Given the description of an element on the screen output the (x, y) to click on. 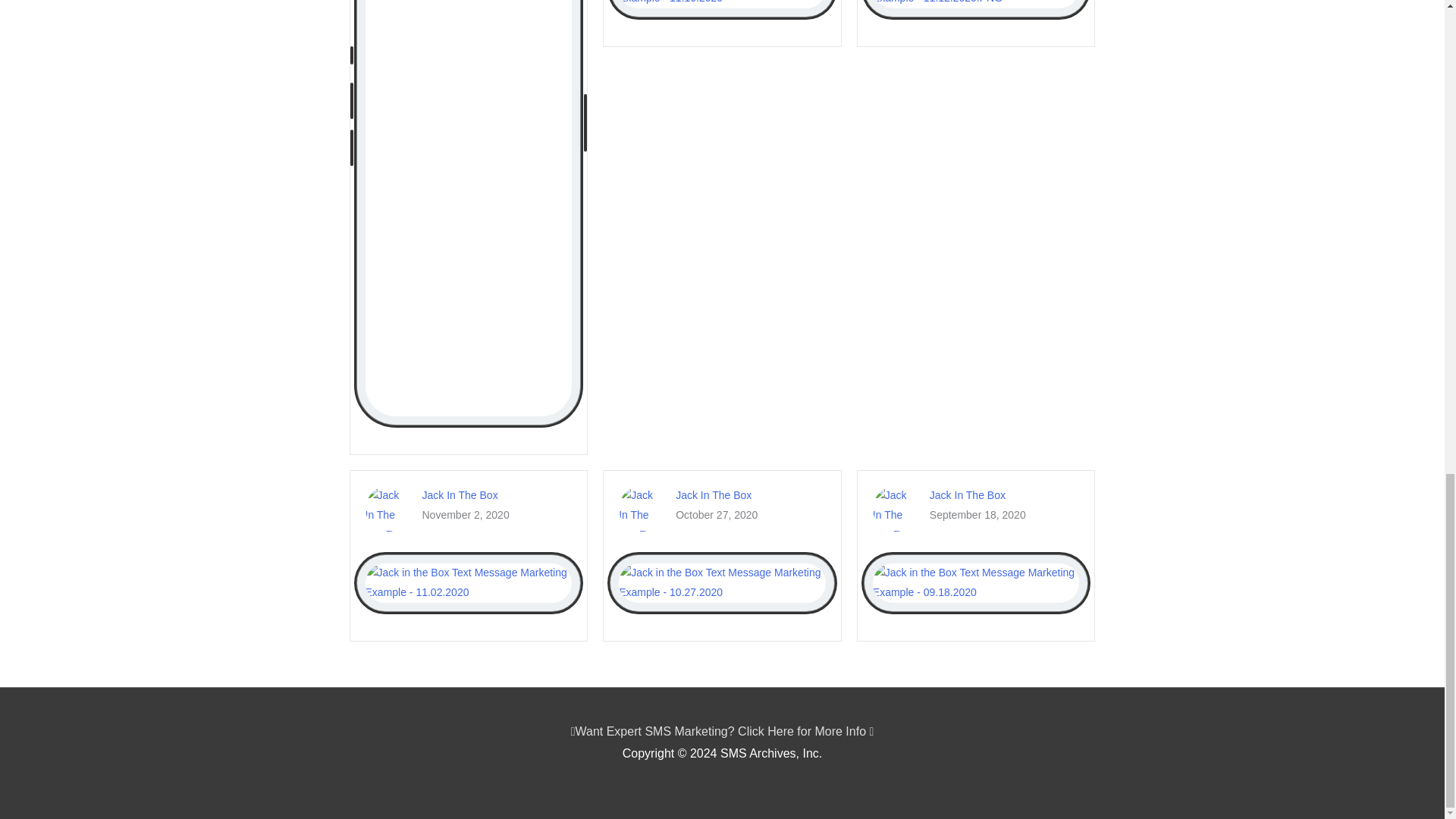
Jack In The Box (459, 494)
Jack In The Box (968, 494)
Jack In The Box (713, 494)
